Given the description of an element on the screen output the (x, y) to click on. 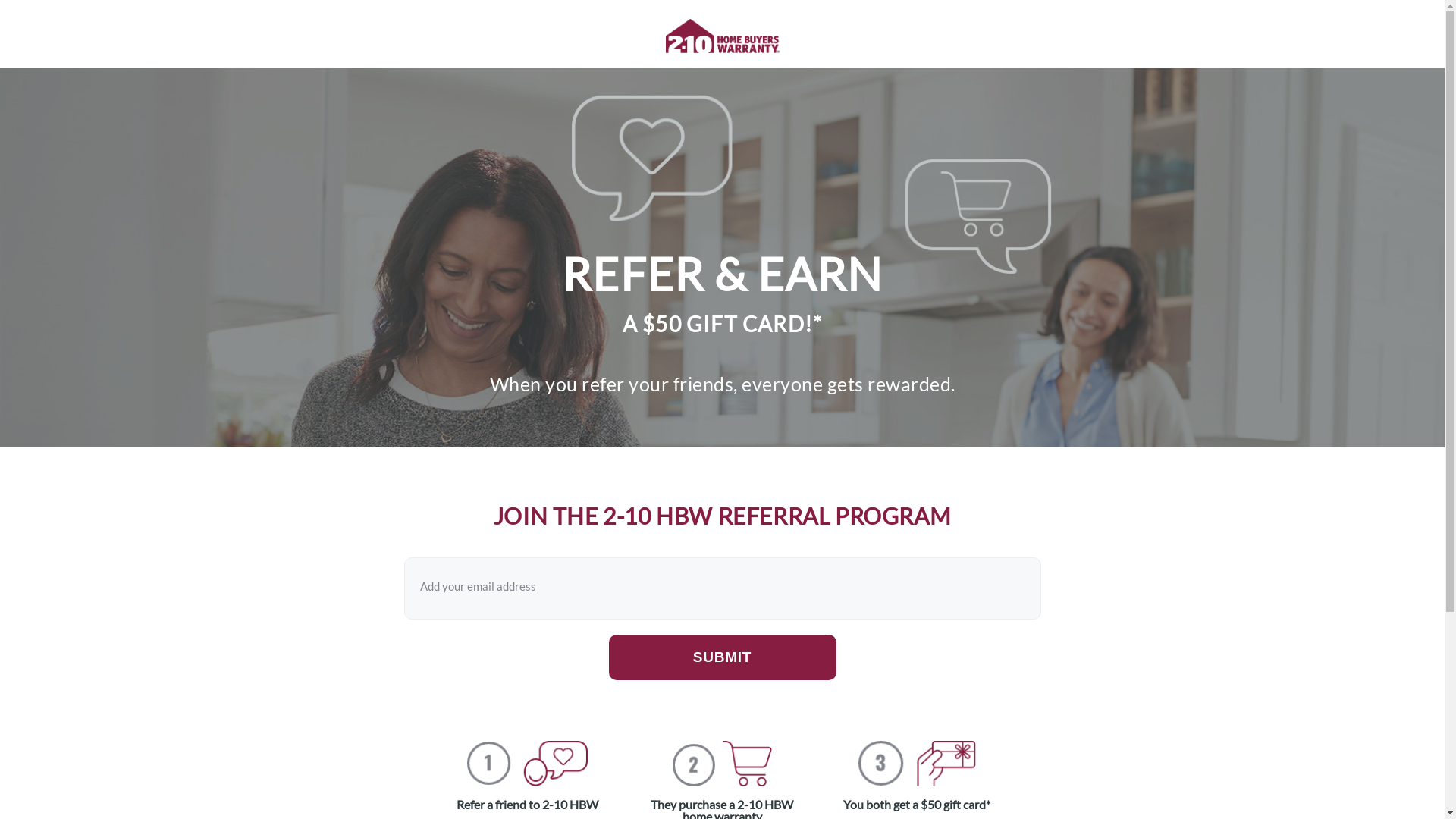
SUBMIT Element type: text (721, 657)
